Given the description of an element on the screen output the (x, y) to click on. 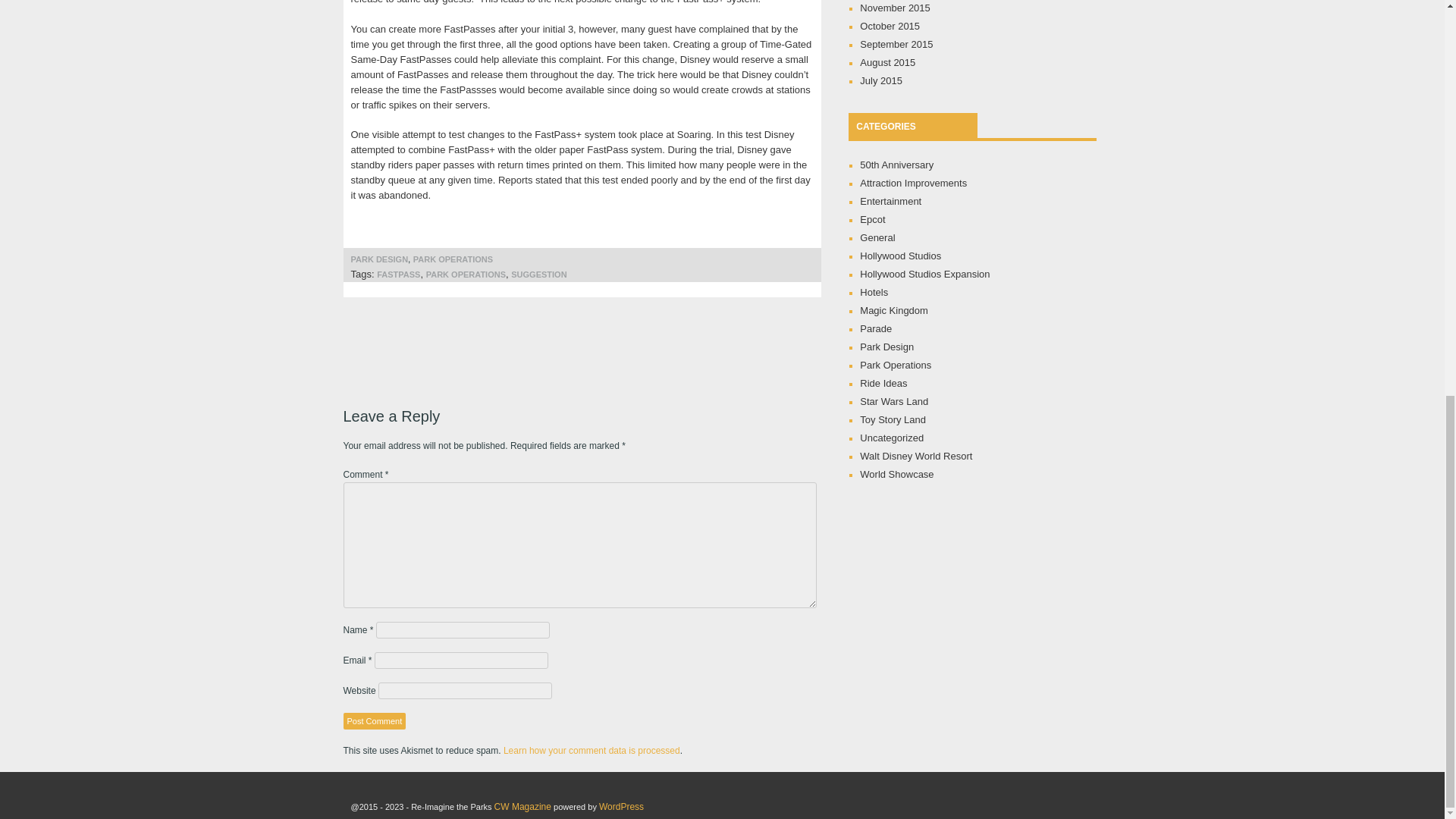
July 2015 (881, 80)
PARK OPERATIONS (453, 258)
October 2015 (890, 25)
November 2015 (895, 7)
Post Comment (374, 719)
August 2015 (887, 61)
PARK DESIGN (378, 258)
Post Comment (374, 719)
Learn how your comment data is processed (591, 750)
PARK OPERATIONS (465, 274)
